Given the description of an element on the screen output the (x, y) to click on. 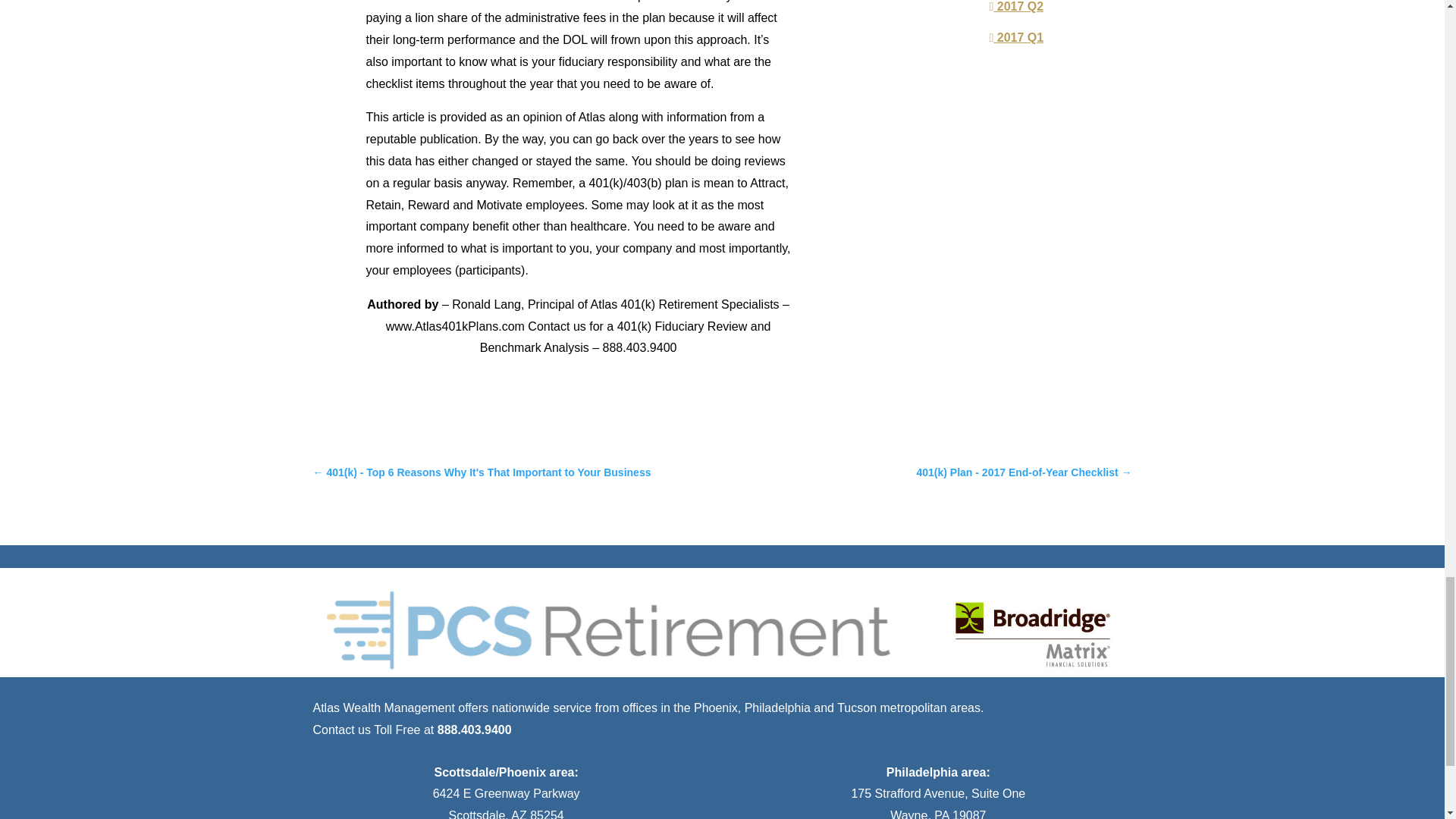
RCP Solutions Broadridge Matrix Logo (722, 630)
